Given the description of an element on the screen output the (x, y) to click on. 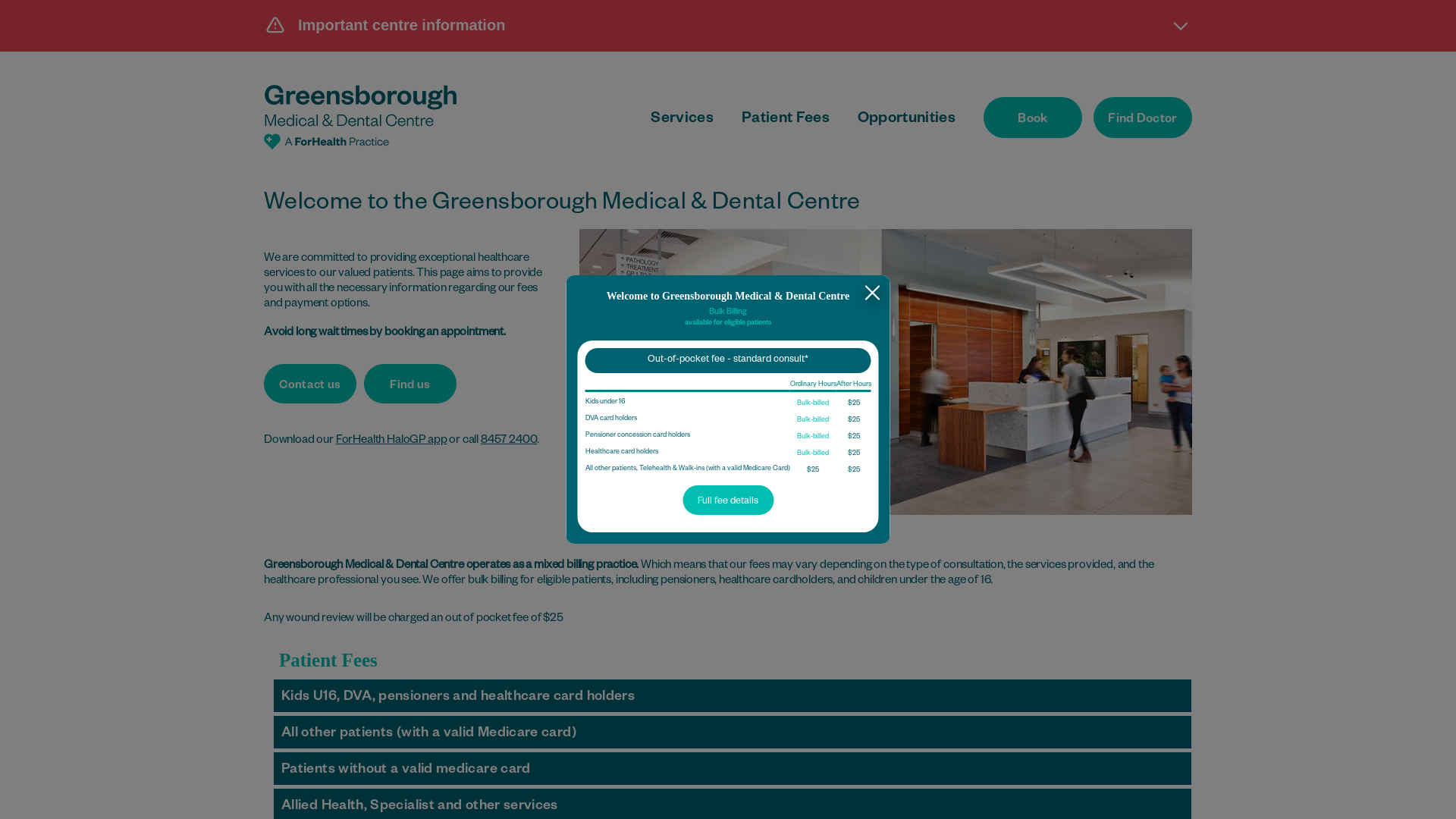
ForHealth HaloGP app Element type: text (391, 440)
Find Doctor Element type: text (1142, 117)
Patients without a valid medicare card Element type: text (732, 768)
Opportunities Element type: text (906, 119)
Find us Element type: text (410, 383)
Book Element type: text (1032, 117)
Kids U16, DVA, pensioners and healthcare card holders Element type: text (732, 695)
Important centre information Element type: text (727, 24)
Contact us Element type: text (309, 383)
Greensborough Medical & Dental Centre Element type: hover (359, 116)
8457 2400 Element type: text (508, 440)
All other patients (with a valid Medicare card) Element type: text (732, 732)
Services Element type: text (681, 119)
Patient Fees Element type: text (785, 119)
Full fee details Element type: text (727, 499)
